Given the description of an element on the screen output the (x, y) to click on. 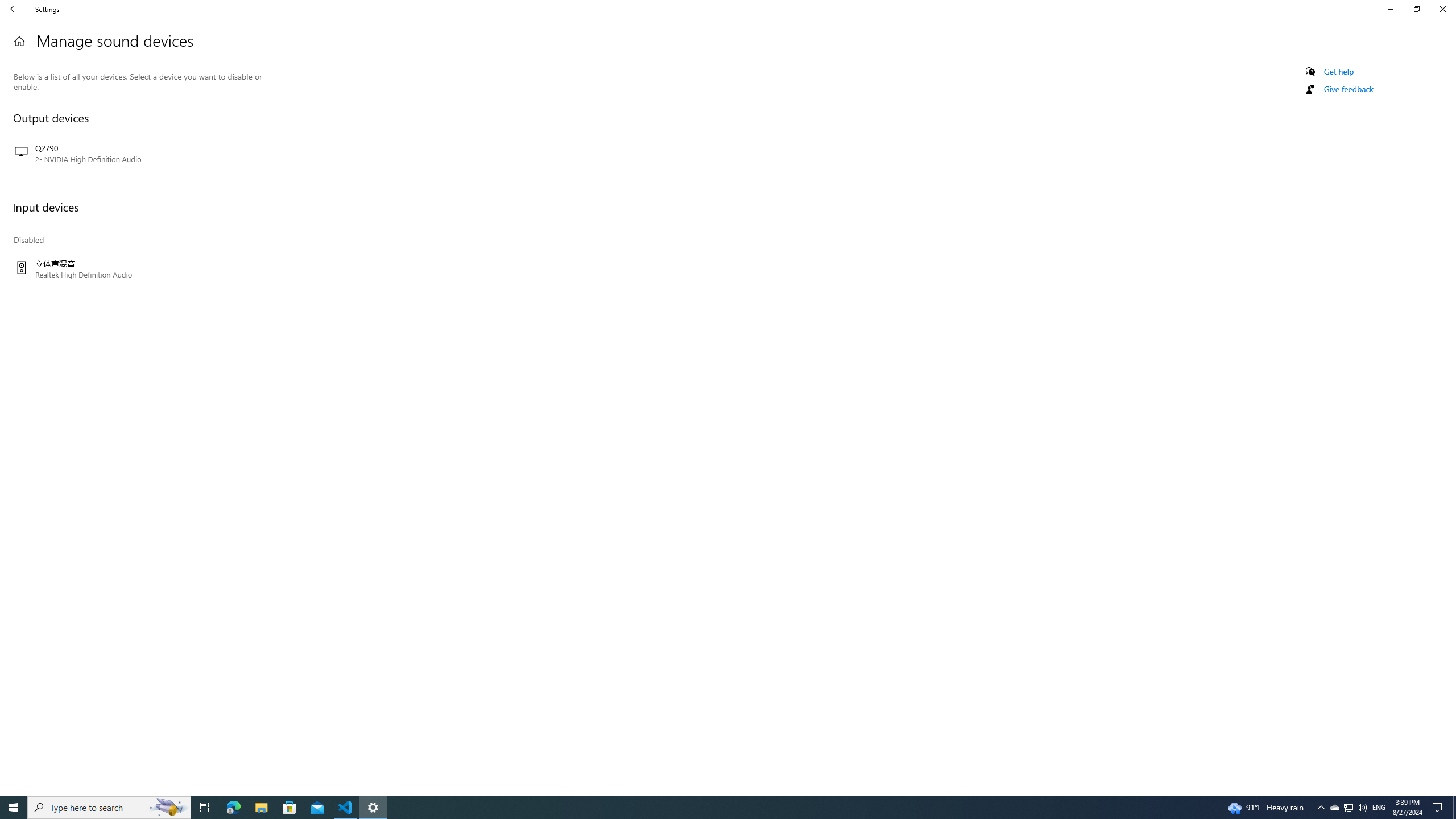
Start (13, 807)
Running applications (706, 807)
Notification Chevron (1320, 807)
Q2790: 100% (1361, 807)
Minimize Settings (1390, 9)
Q2790 2- NVIDIA High Definition Audio (137, 153)
Home (19, 40)
Settings - 1 running window (373, 807)
Visual Studio Code - 1 running window (1347, 807)
Type here to search (345, 807)
User Promoted Notification Area (108, 807)
Close Settings (1347, 807)
